Given the description of an element on the screen output the (x, y) to click on. 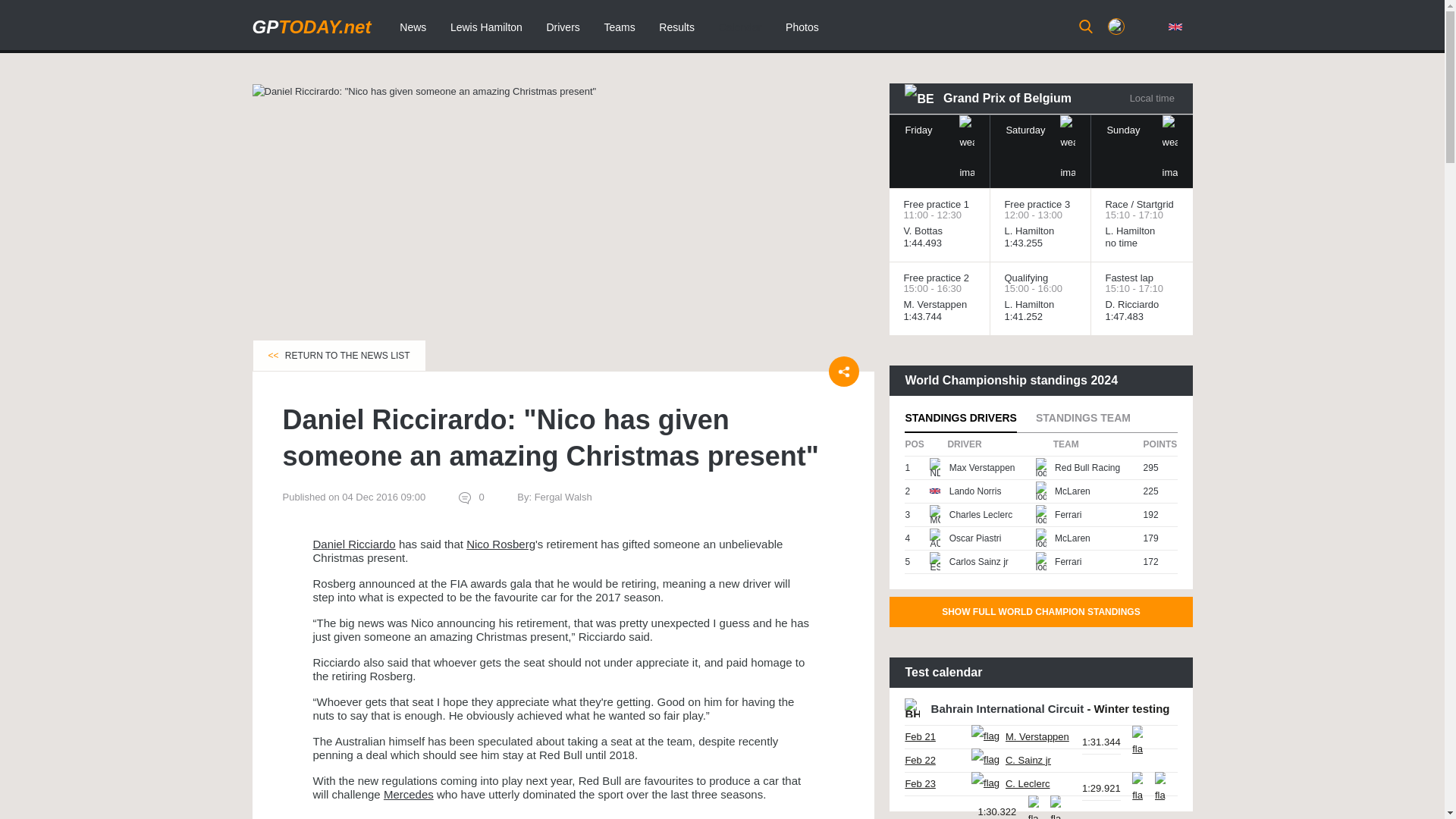
Photos (801, 26)
Lewis Hamilton (485, 26)
News (412, 26)
GPTODAY.net (311, 26)
Teams (618, 26)
Calendar (740, 26)
Results (675, 26)
Drivers (562, 26)
